Given the description of an element on the screen output the (x, y) to click on. 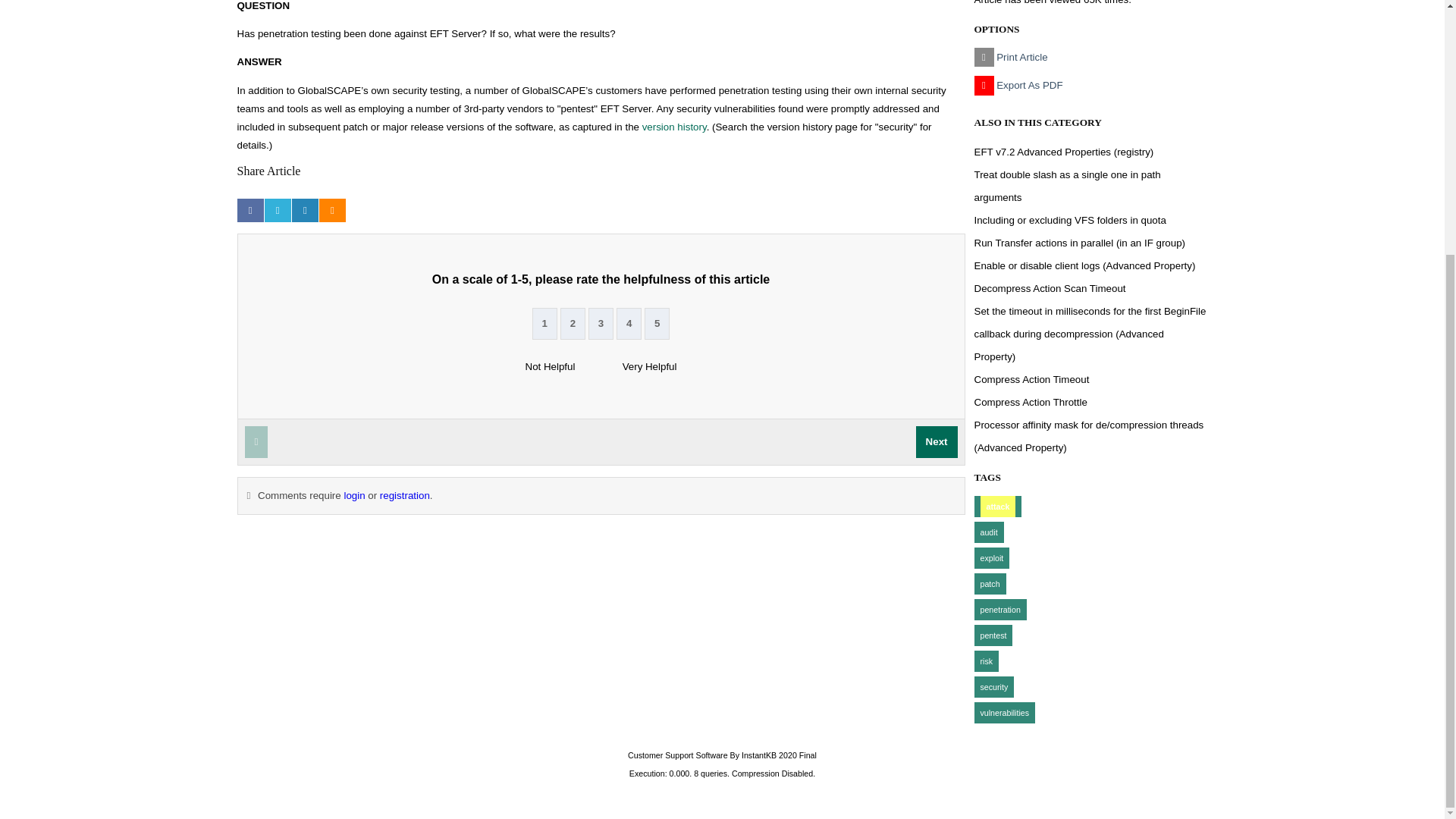
Share On Twitter (277, 210)
version history (674, 126)
Share On Facebook (249, 210)
Social Bookmarks (332, 210)
Share Via Email (305, 210)
